Given the description of an element on the screen output the (x, y) to click on. 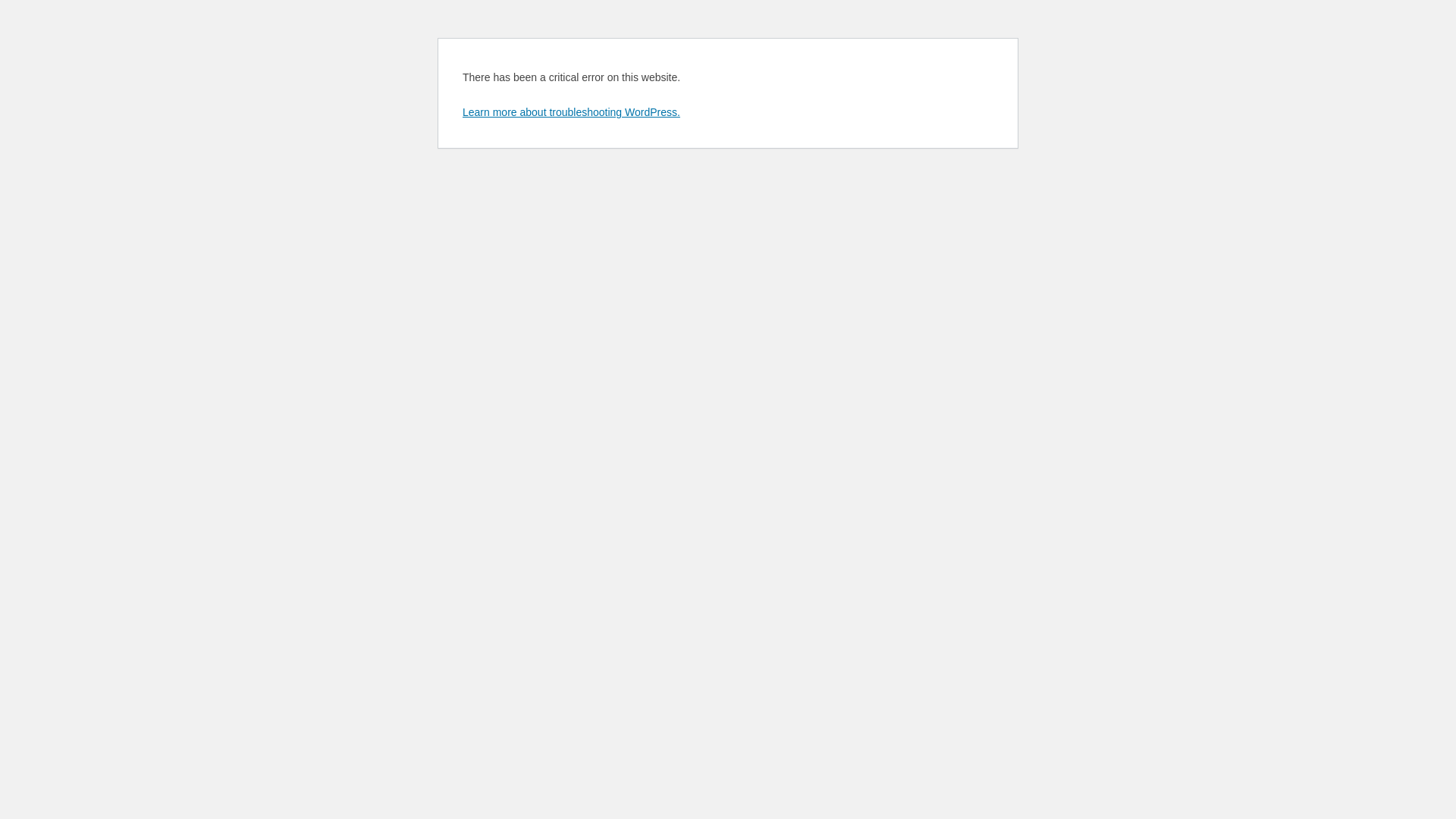
Learn more about troubleshooting WordPress. Element type: text (571, 112)
